Given the description of an element on the screen output the (x, y) to click on. 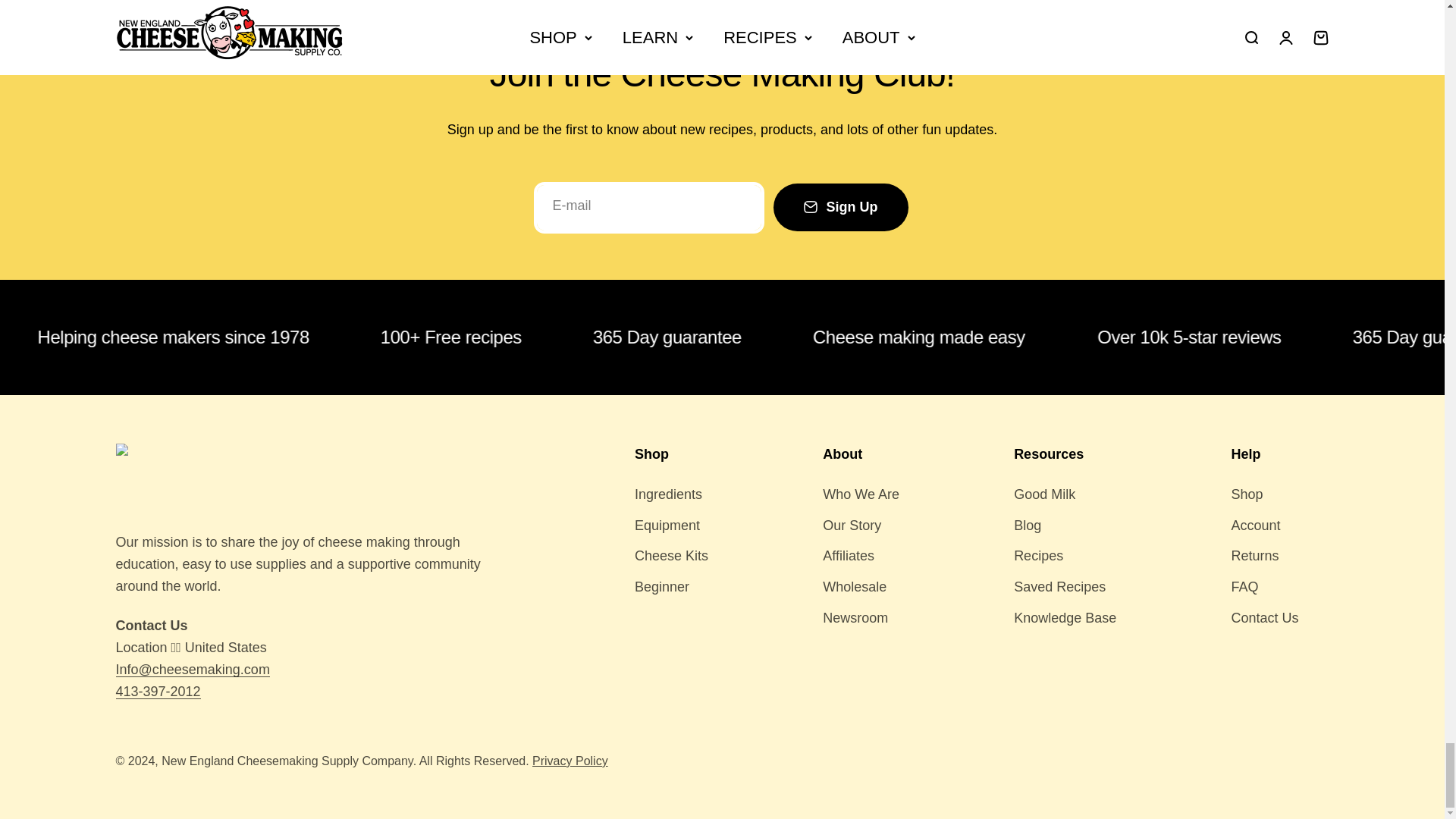
tel:413-397-2012 (157, 691)
Home Cheese Making Supplies (651, 453)
About Us (841, 453)
Contact Us (1245, 453)
